Given the description of an element on the screen output the (x, y) to click on. 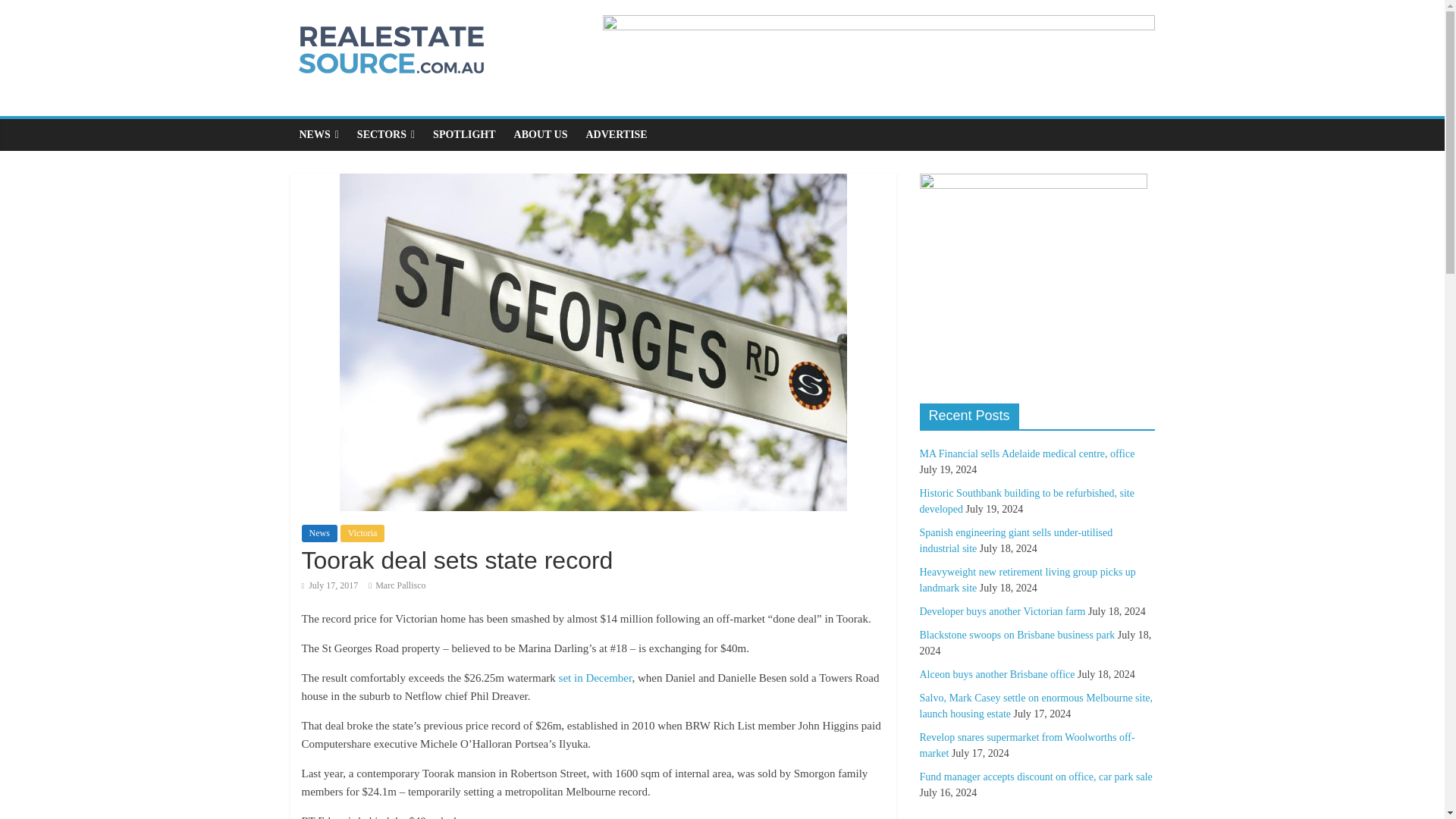
ABOUT US (540, 134)
July 17, 2017 (329, 584)
SPOTLIGHT (463, 134)
SECTORS (385, 134)
9:40 am (329, 584)
NEWS (318, 134)
Marc Pallisco (400, 584)
Victoria (362, 532)
News (319, 532)
Marc Pallisco (400, 584)
ADVERTISE (616, 134)
set in December (595, 677)
